Given the description of an element on the screen output the (x, y) to click on. 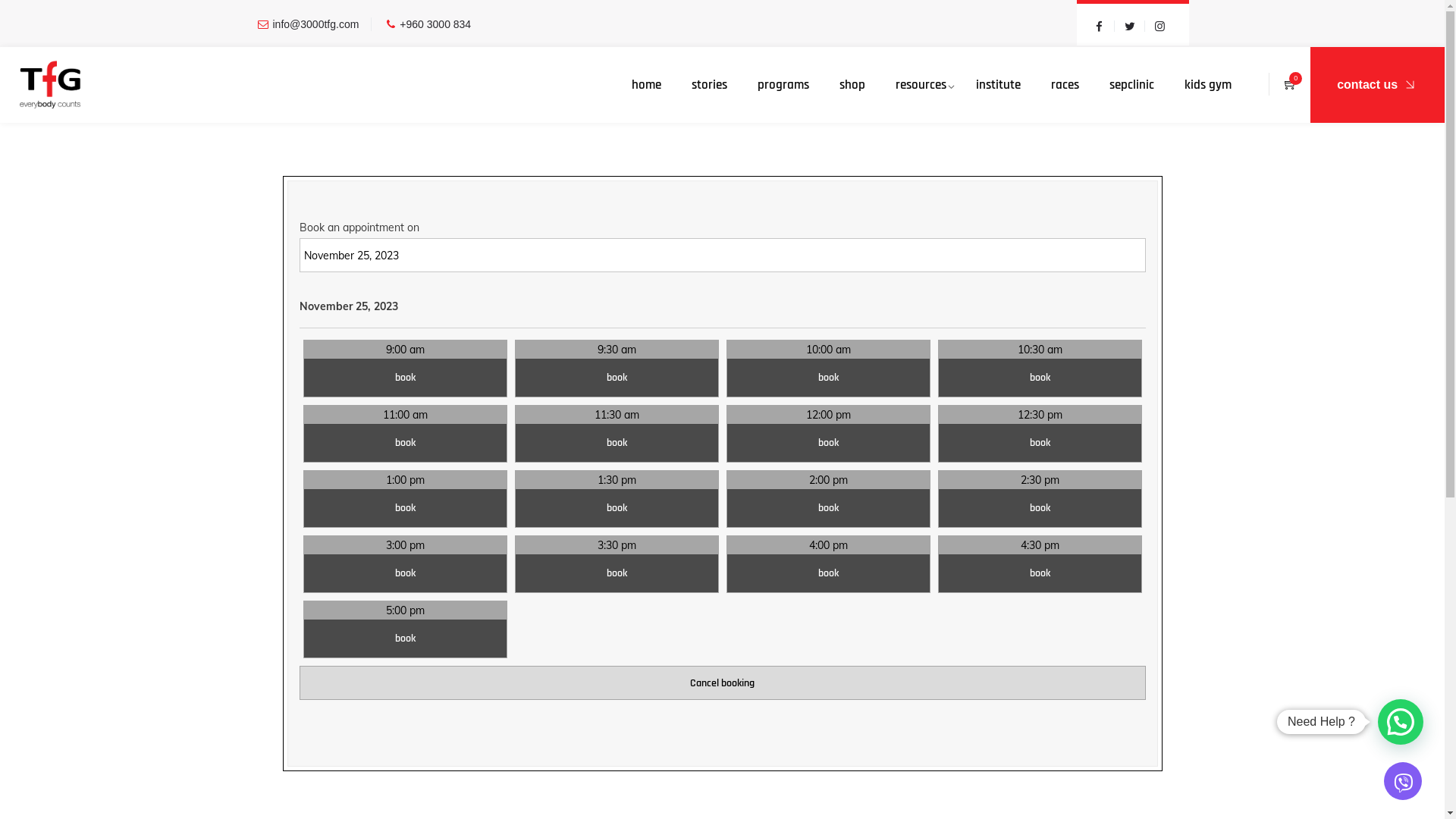
kids gym Element type: text (1207, 84)
shop Element type: text (852, 84)
+960 3000 834 Element type: text (434, 24)
resources Element type: text (920, 84)
stories Element type: text (709, 84)
sepclinic Element type: text (1131, 84)
0 Element type: text (1290, 84)
home Element type: text (646, 84)
races Element type: text (1065, 84)
contact us Element type: text (1377, 84)
info@3000tfg.com Element type: text (316, 24)
institute Element type: text (997, 84)
TfG Element type: hover (49, 84)
programs Element type: text (783, 84)
